Given the description of an element on the screen output the (x, y) to click on. 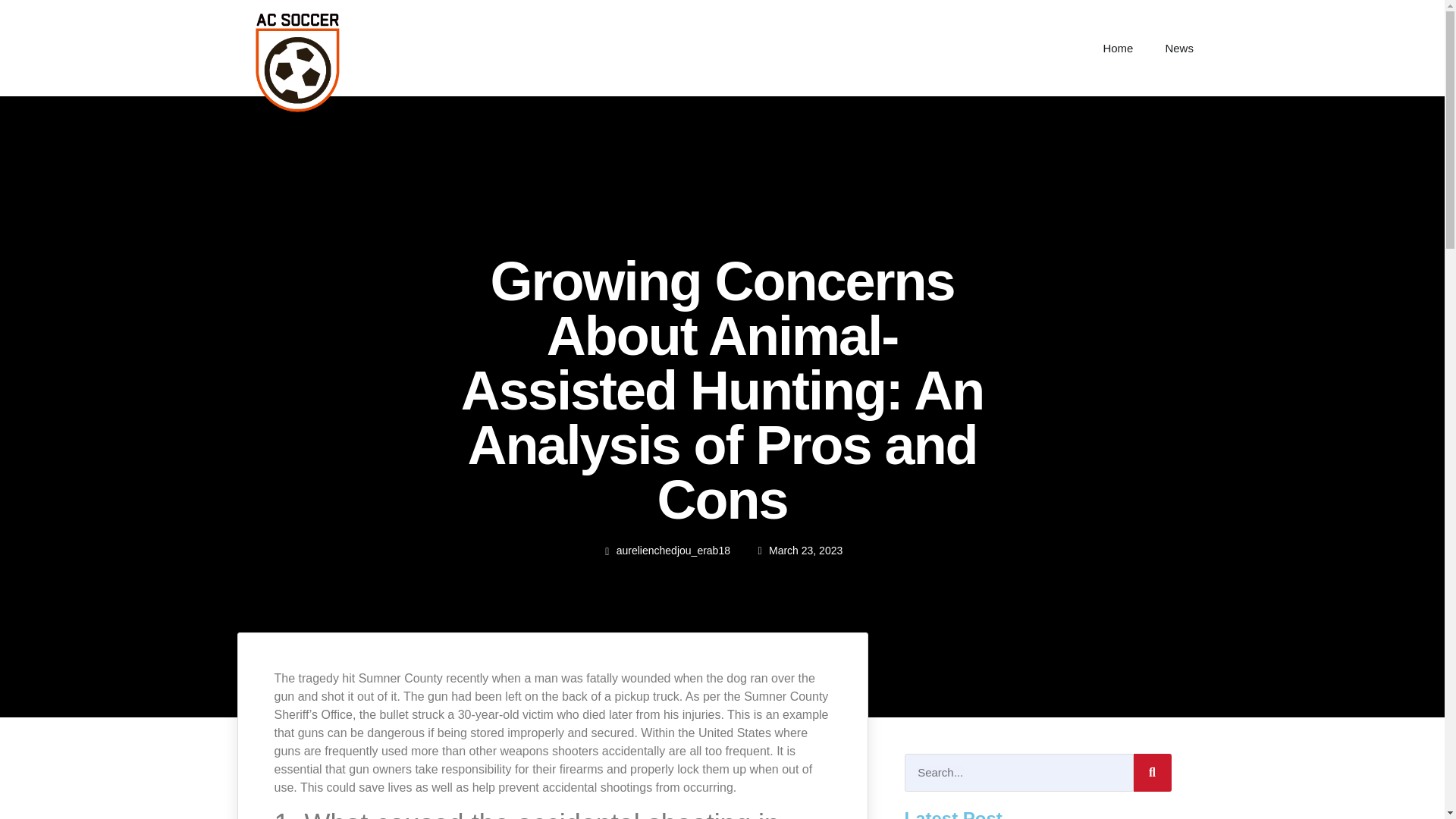
Search (1018, 772)
Search (1151, 772)
March 23, 2023 (798, 550)
